Given the description of an element on the screen output the (x, y) to click on. 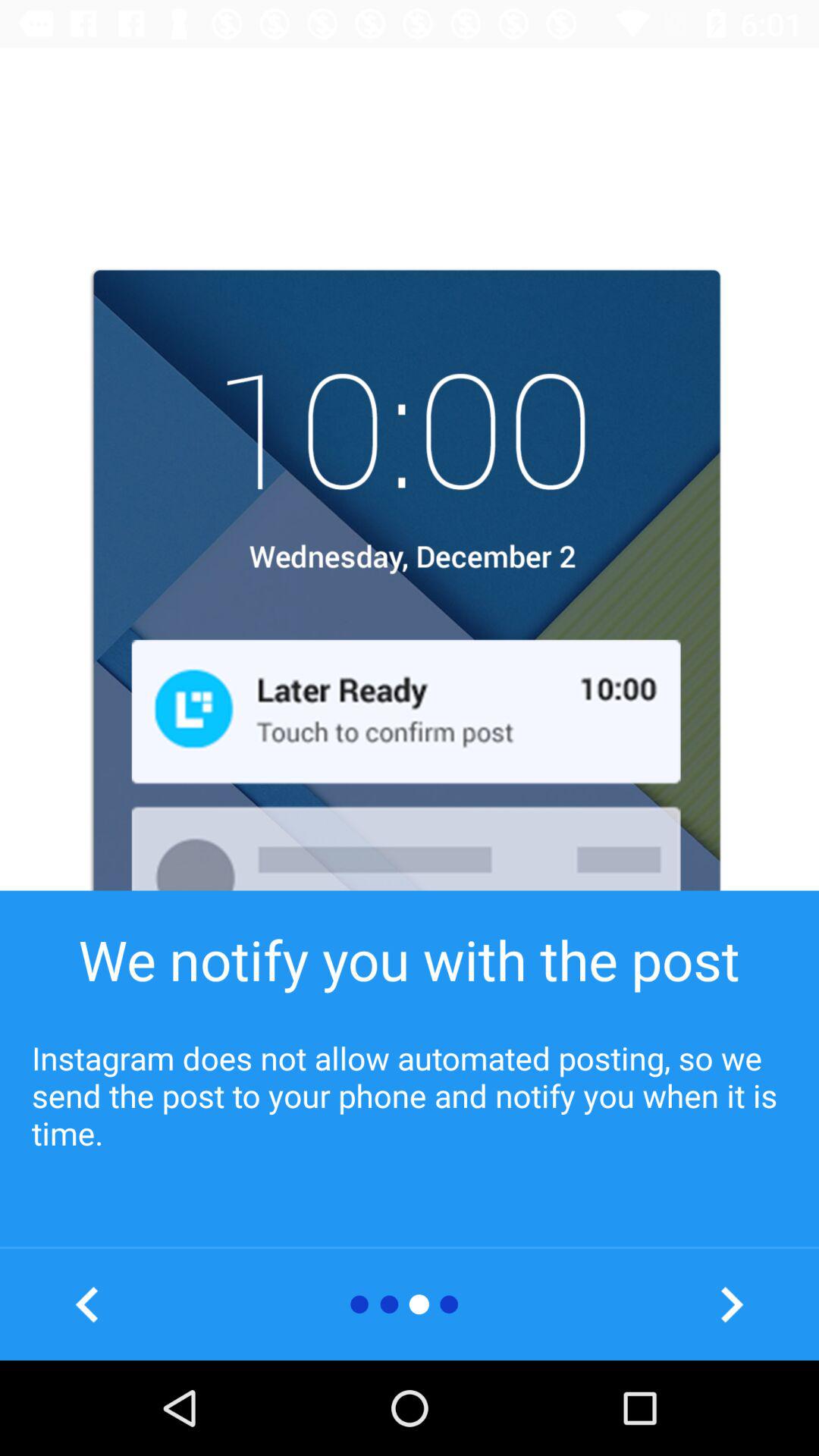
go back (87, 1304)
